Given the description of an element on the screen output the (x, y) to click on. 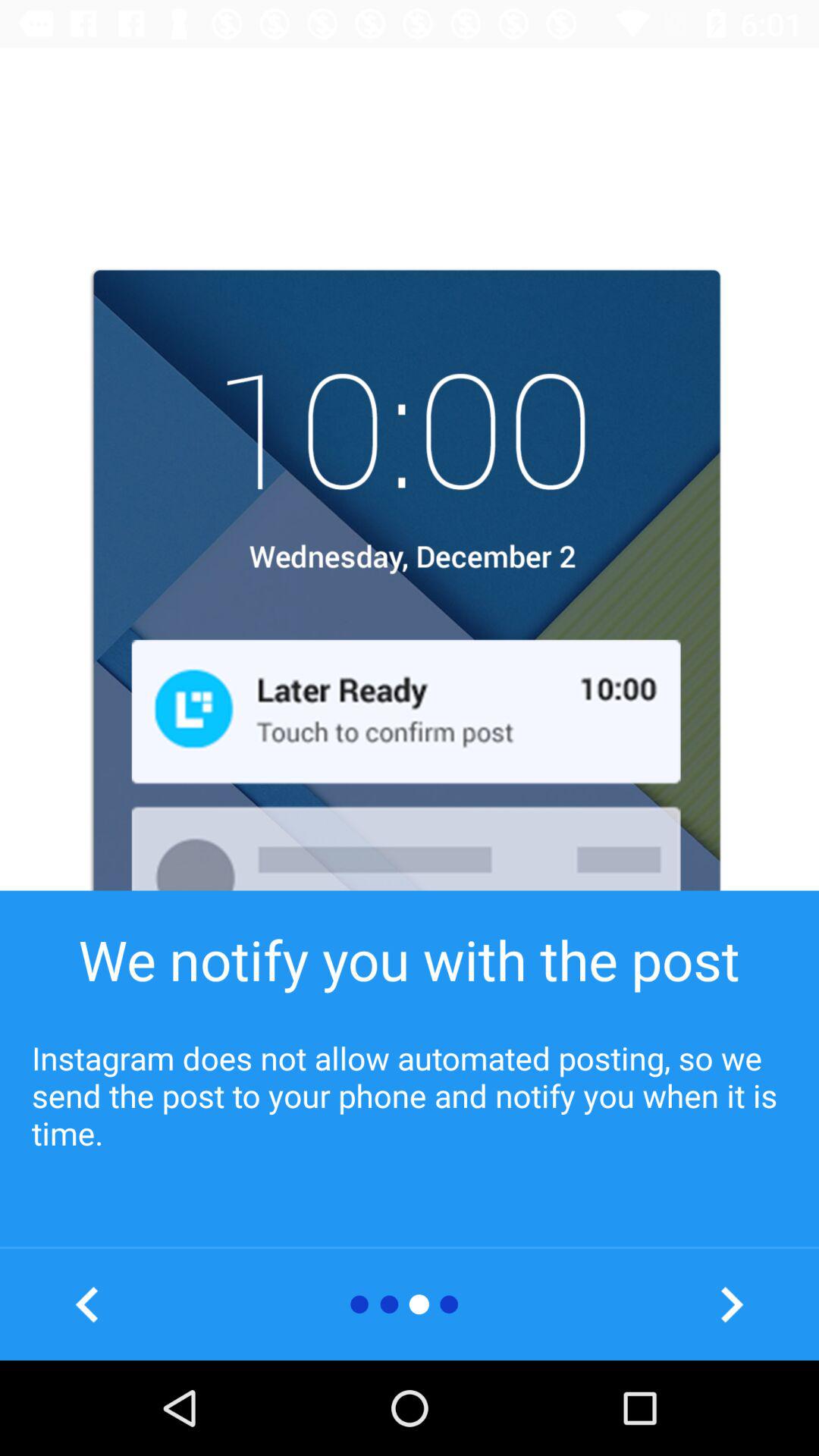
go back (87, 1304)
